Given the description of an element on the screen output the (x, y) to click on. 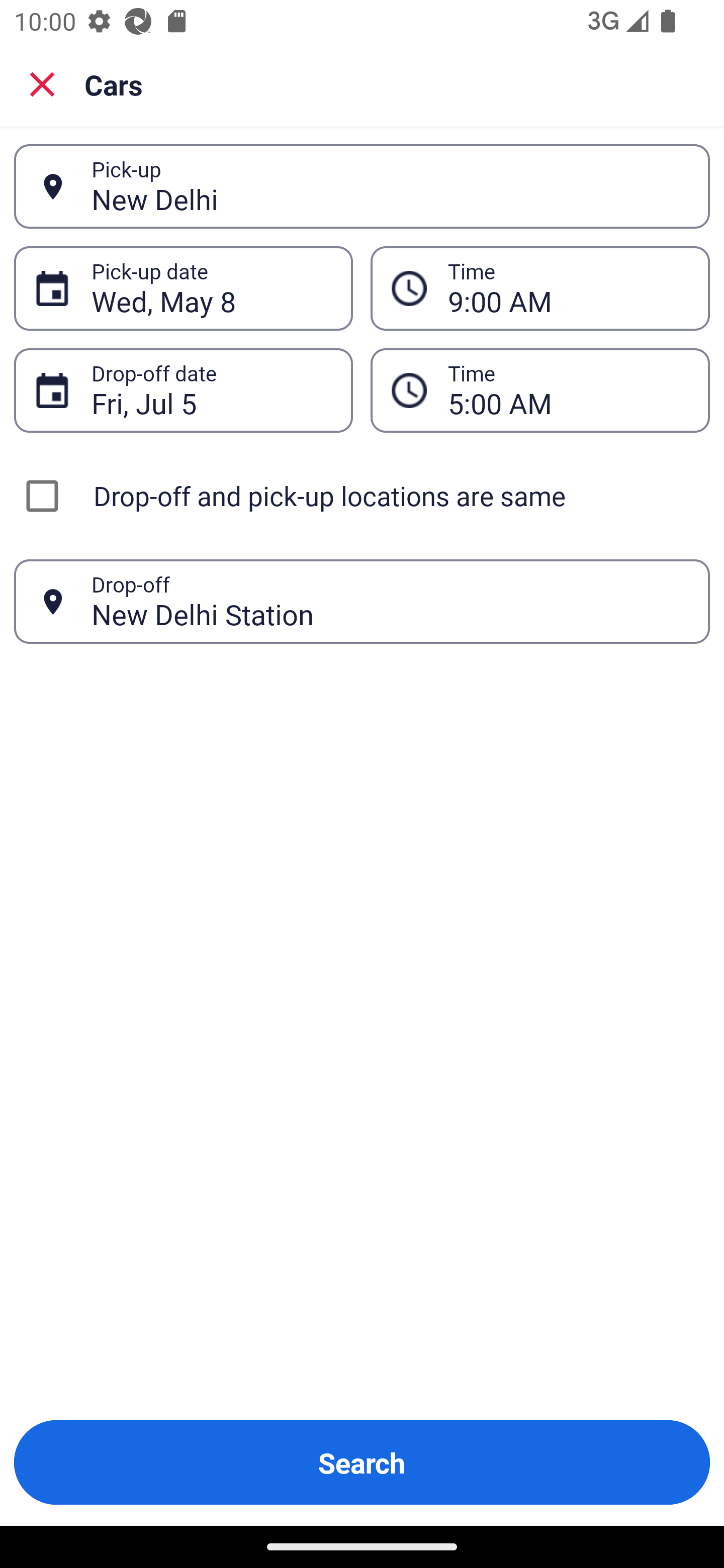
Close search screen (41, 83)
New Delhi Pick-up (361, 186)
New Delhi (389, 186)
Wed, May 8 Pick-up date (183, 288)
9:00 AM (540, 288)
Wed, May 8 (211, 288)
9:00 AM (568, 288)
Fri, Jul 5 Drop-off date (183, 390)
5:00 AM (540, 390)
Fri, Jul 5 (211, 390)
5:00 AM (568, 390)
Drop-off and pick-up locations are same (361, 495)
New Delhi Station Drop-off (361, 601)
New Delhi Station (389, 601)
Search Button Search (361, 1462)
